Given the description of an element on the screen output the (x, y) to click on. 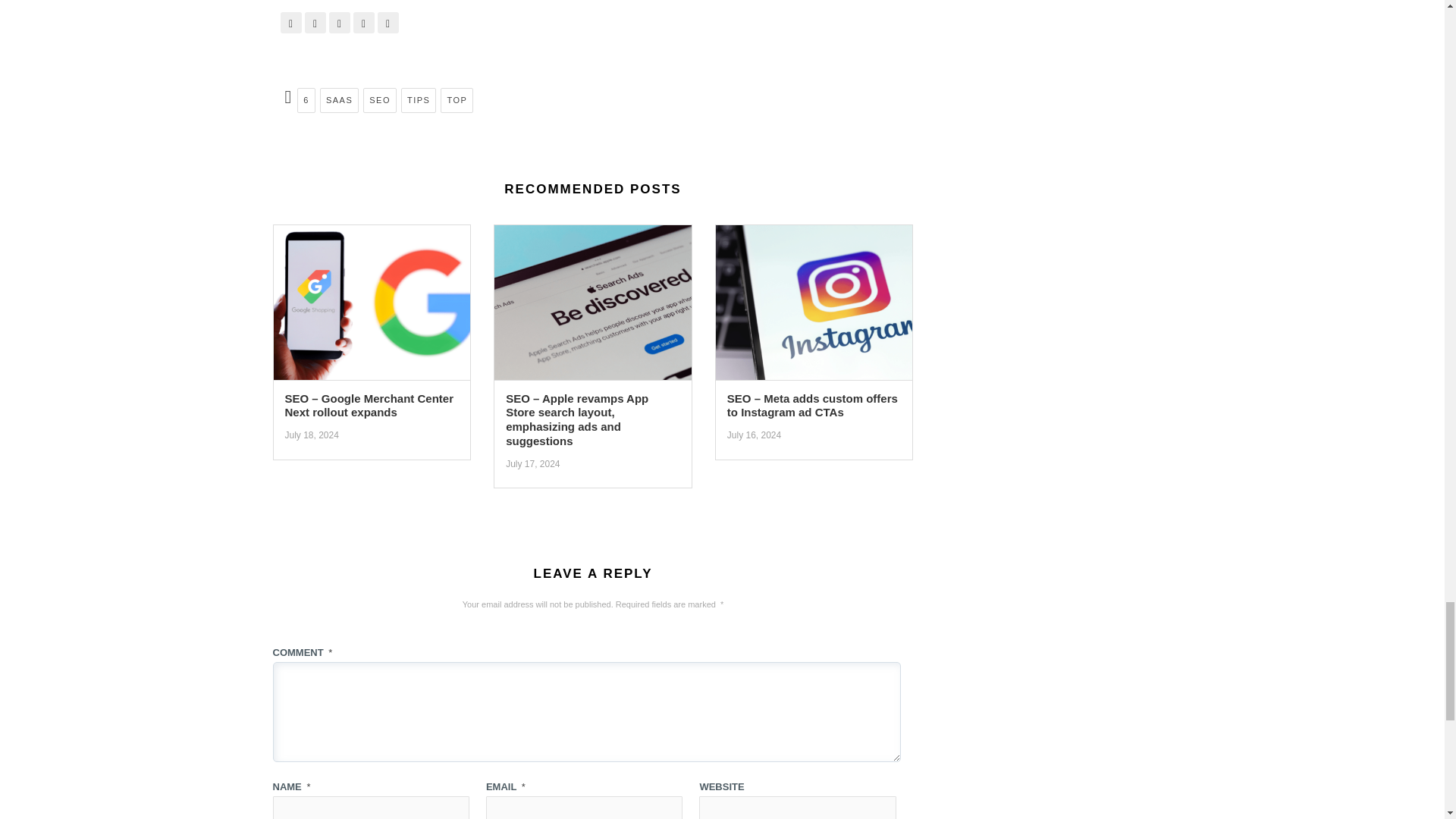
SEO (379, 100)
TIPS (418, 100)
SEO - Meta adds custom offers to Instagram ad CTAs (814, 306)
TOP (457, 100)
SAAS (339, 100)
SEO - Google Merchant Center Next rollout expands (371, 306)
